Given the description of an element on the screen output the (x, y) to click on. 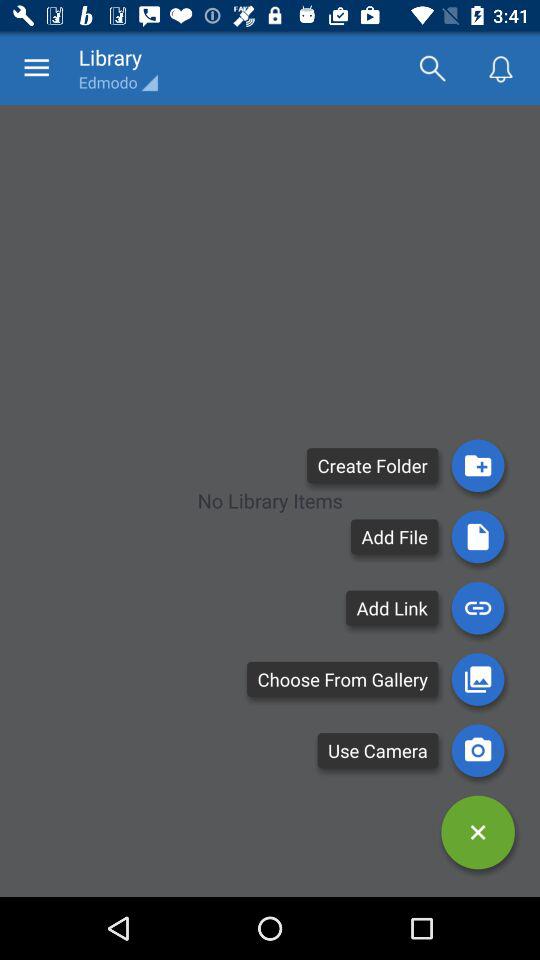
create folder (478, 465)
